Given the description of an element on the screen output the (x, y) to click on. 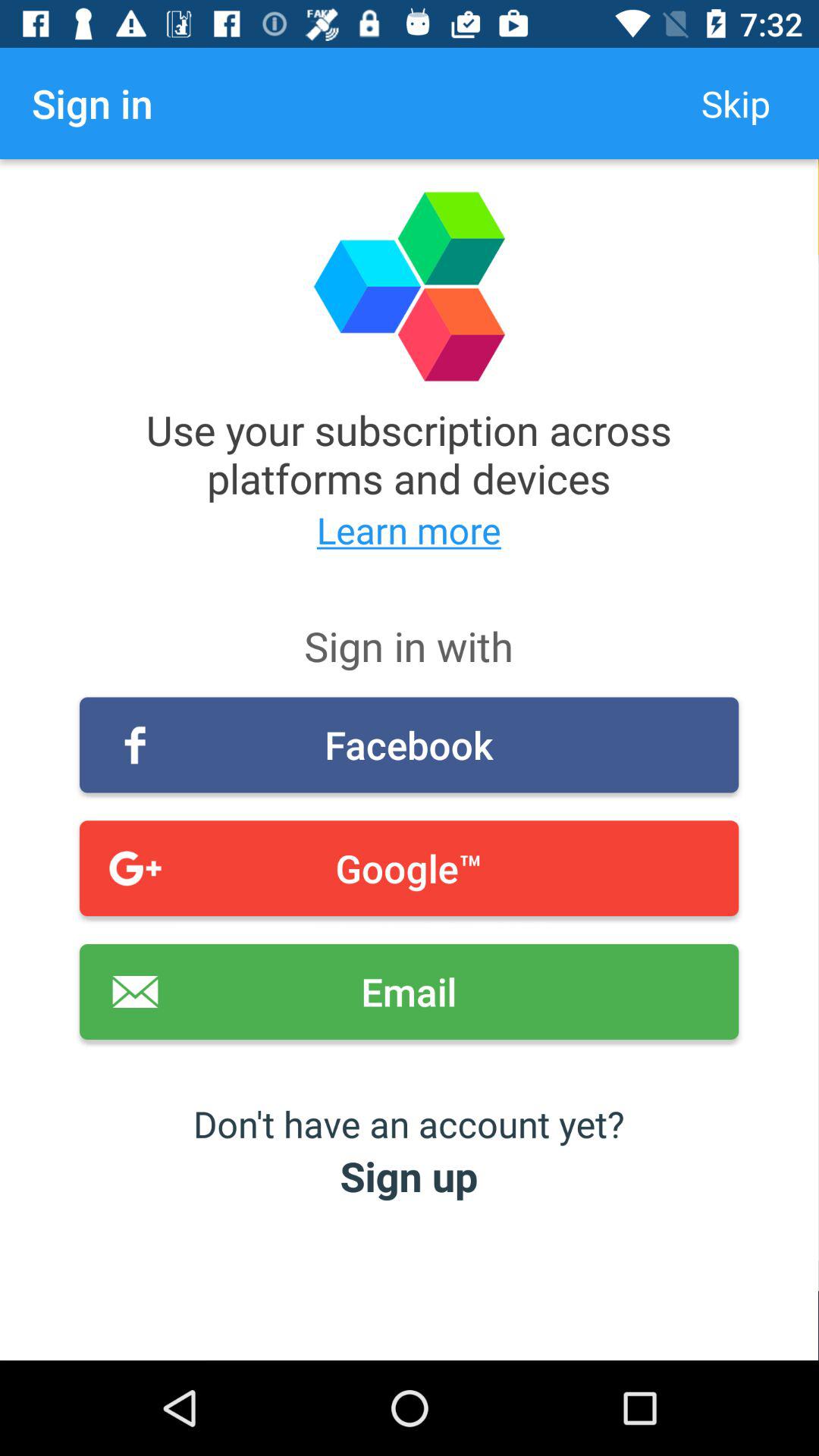
press the learn more (408, 529)
